Given the description of an element on the screen output the (x, y) to click on. 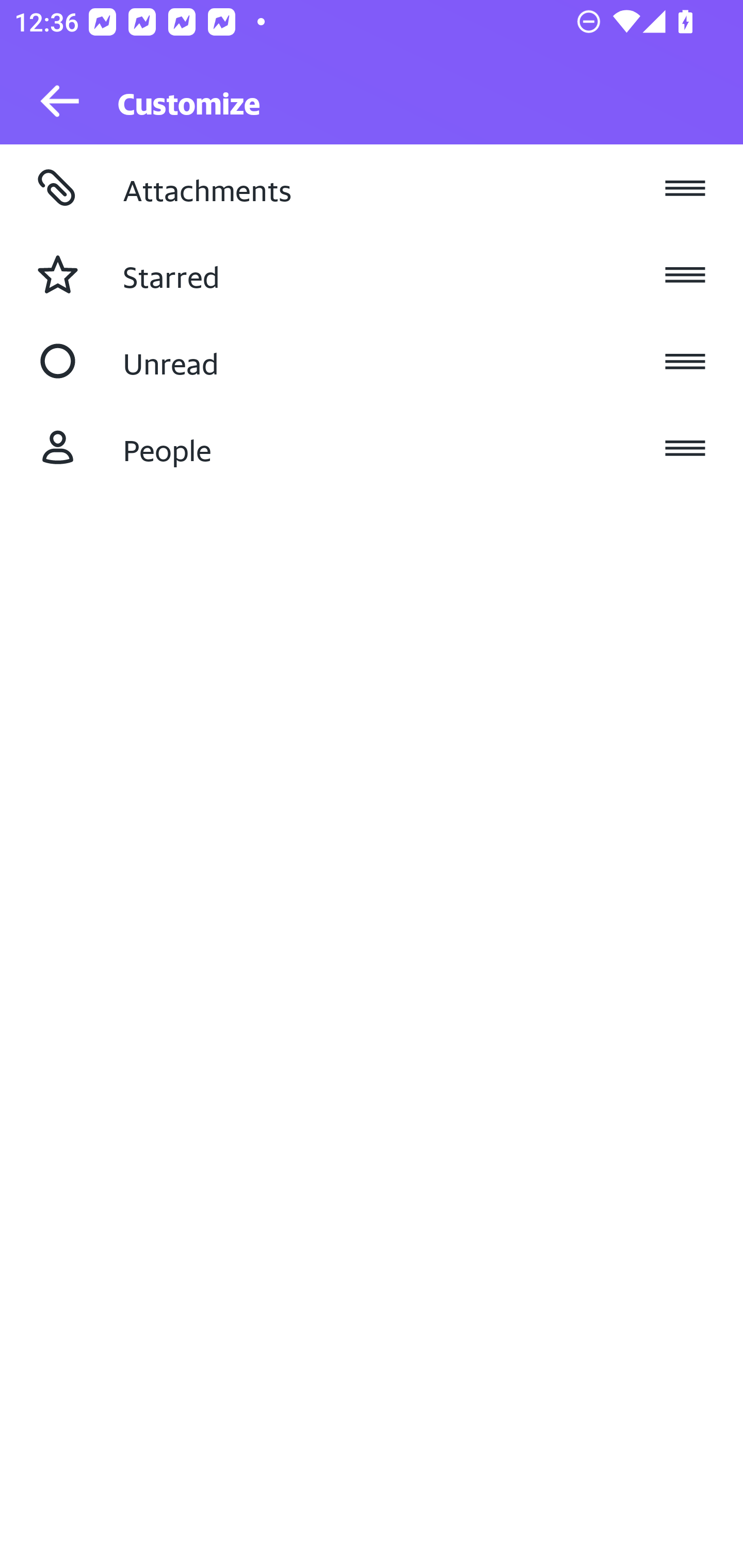
Back (50, 101)
